Given the description of an element on the screen output the (x, y) to click on. 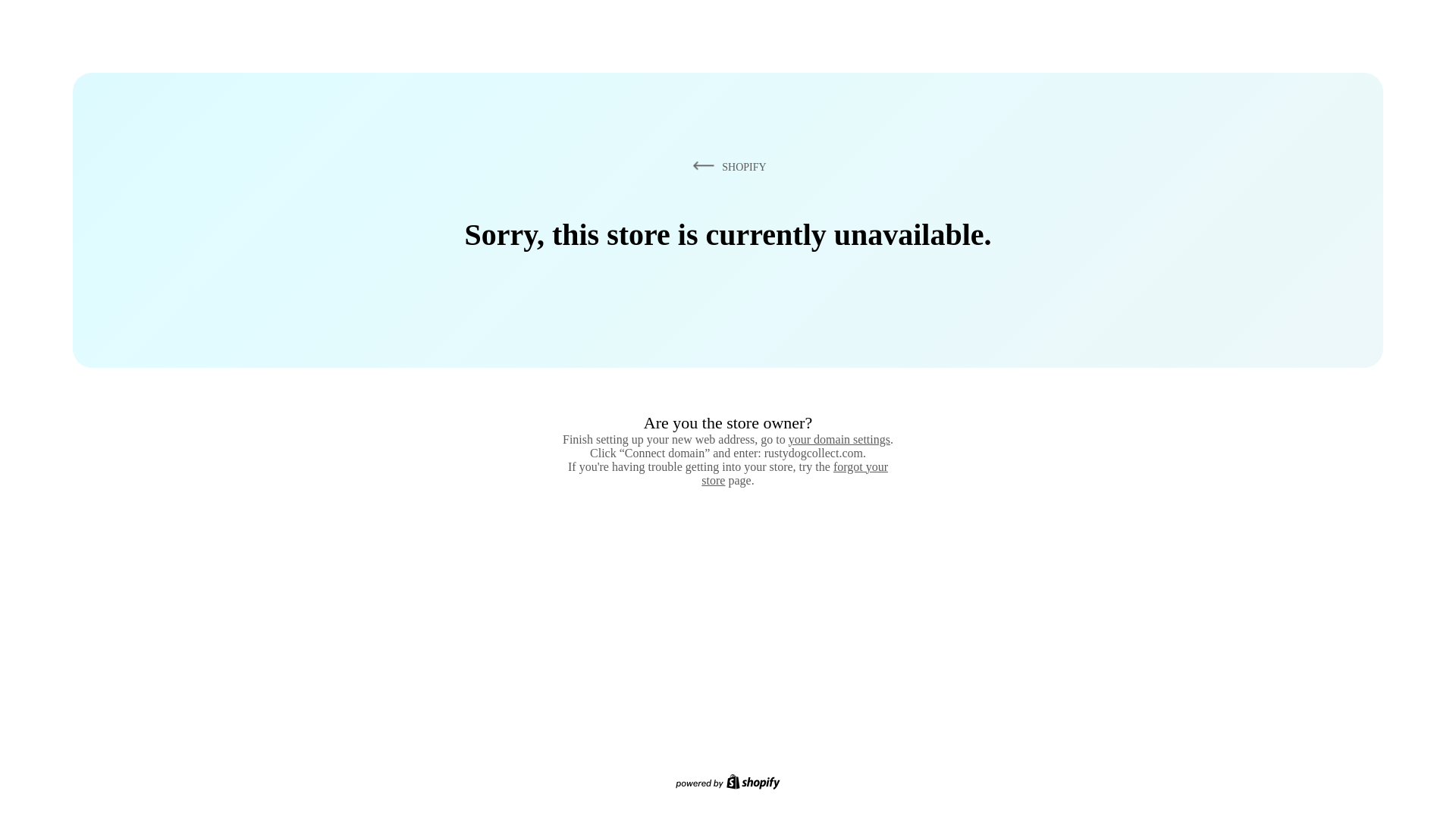
forgot your store (794, 473)
SHOPIFY (726, 166)
your domain settings (839, 439)
